Given the description of an element on the screen output the (x, y) to click on. 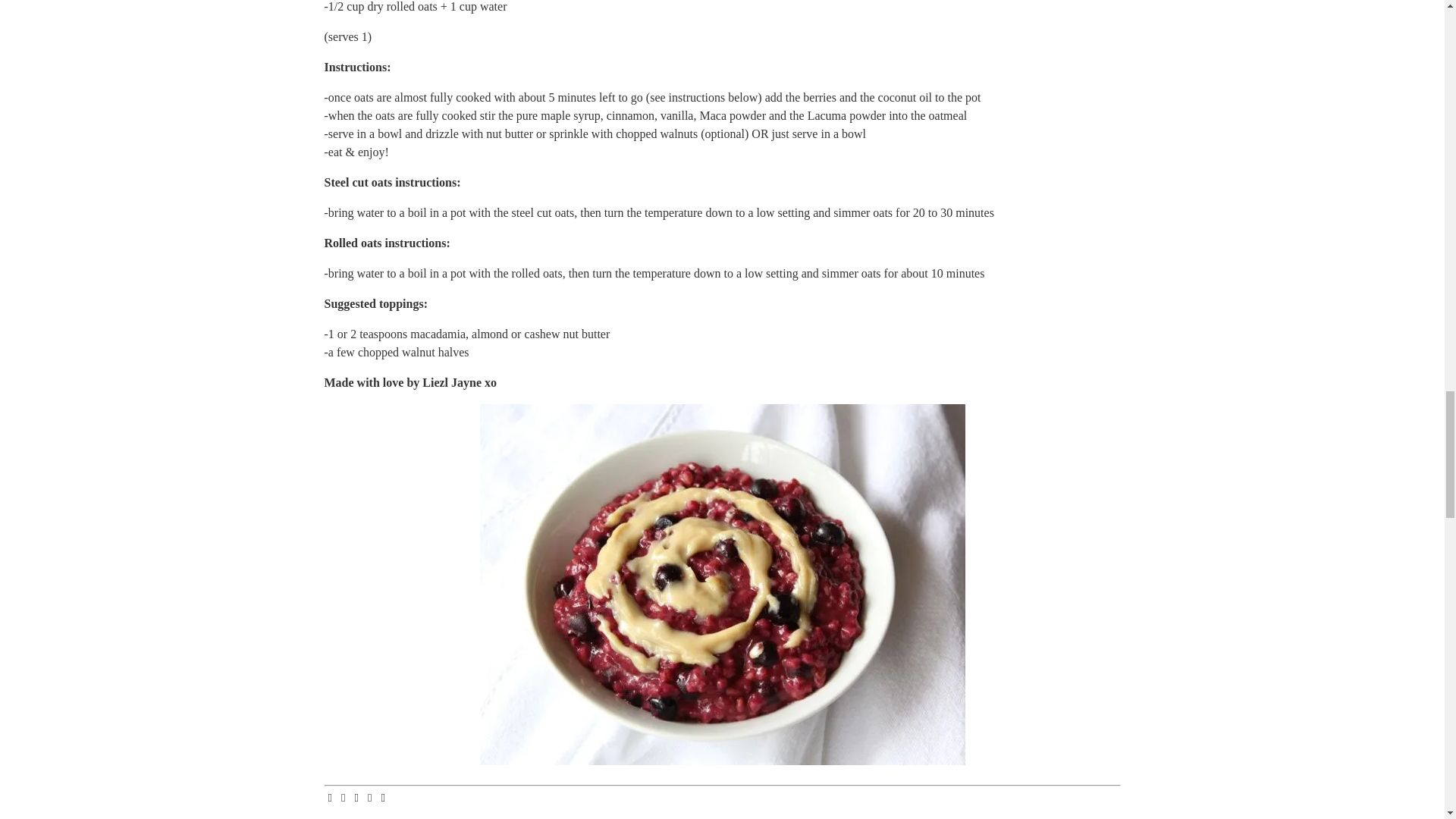
Share on Pinterest (356, 798)
Share on google plus (383, 798)
Share on Facebook (330, 798)
Share on tumblr (370, 798)
Share on Twitter (343, 798)
